Given the description of an element on the screen output the (x, y) to click on. 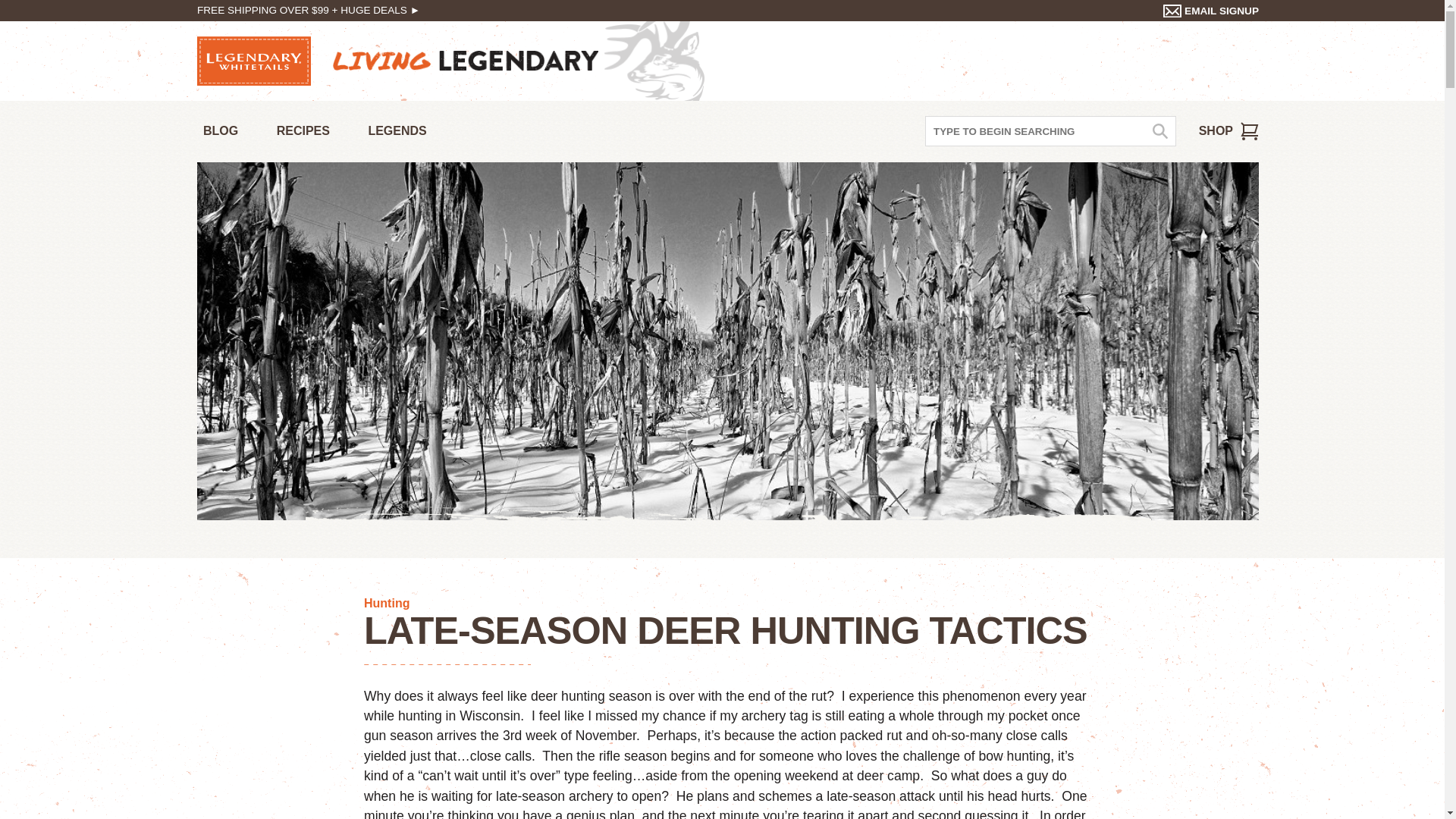
RECIPES (303, 131)
BLOG (220, 131)
LEGENDS (396, 131)
EMAIL SIGNUP (1211, 10)
SHOP (1228, 131)
